Given the description of an element on the screen output the (x, y) to click on. 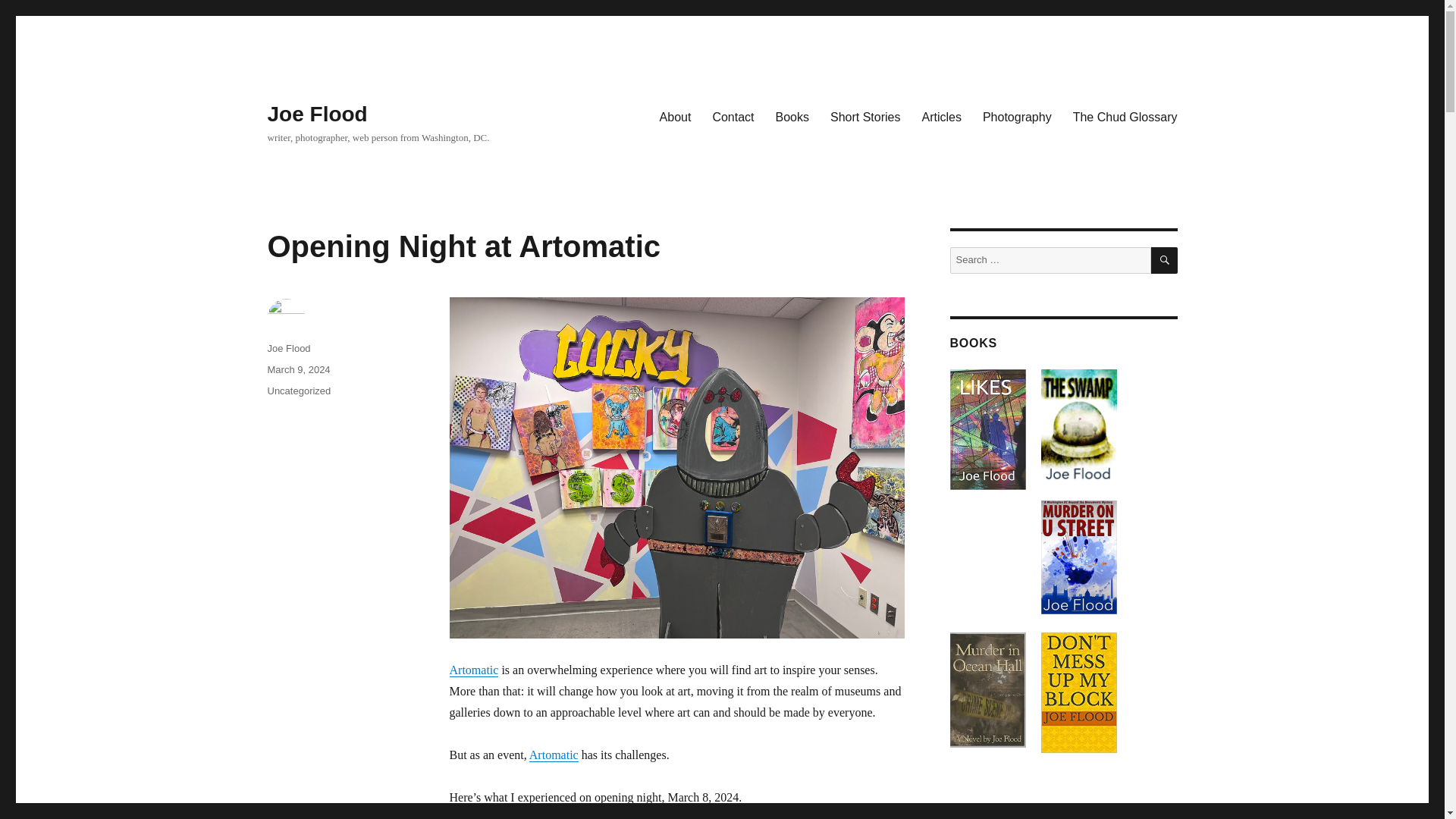
Books (792, 116)
Artomatic (553, 754)
Contact (732, 116)
About (675, 116)
The Chud Glossary (1125, 116)
Articles (941, 116)
Joe Flood (316, 114)
Artomatic (472, 669)
Photography (1017, 116)
Short Stories (865, 116)
